Given the description of an element on the screen output the (x, y) to click on. 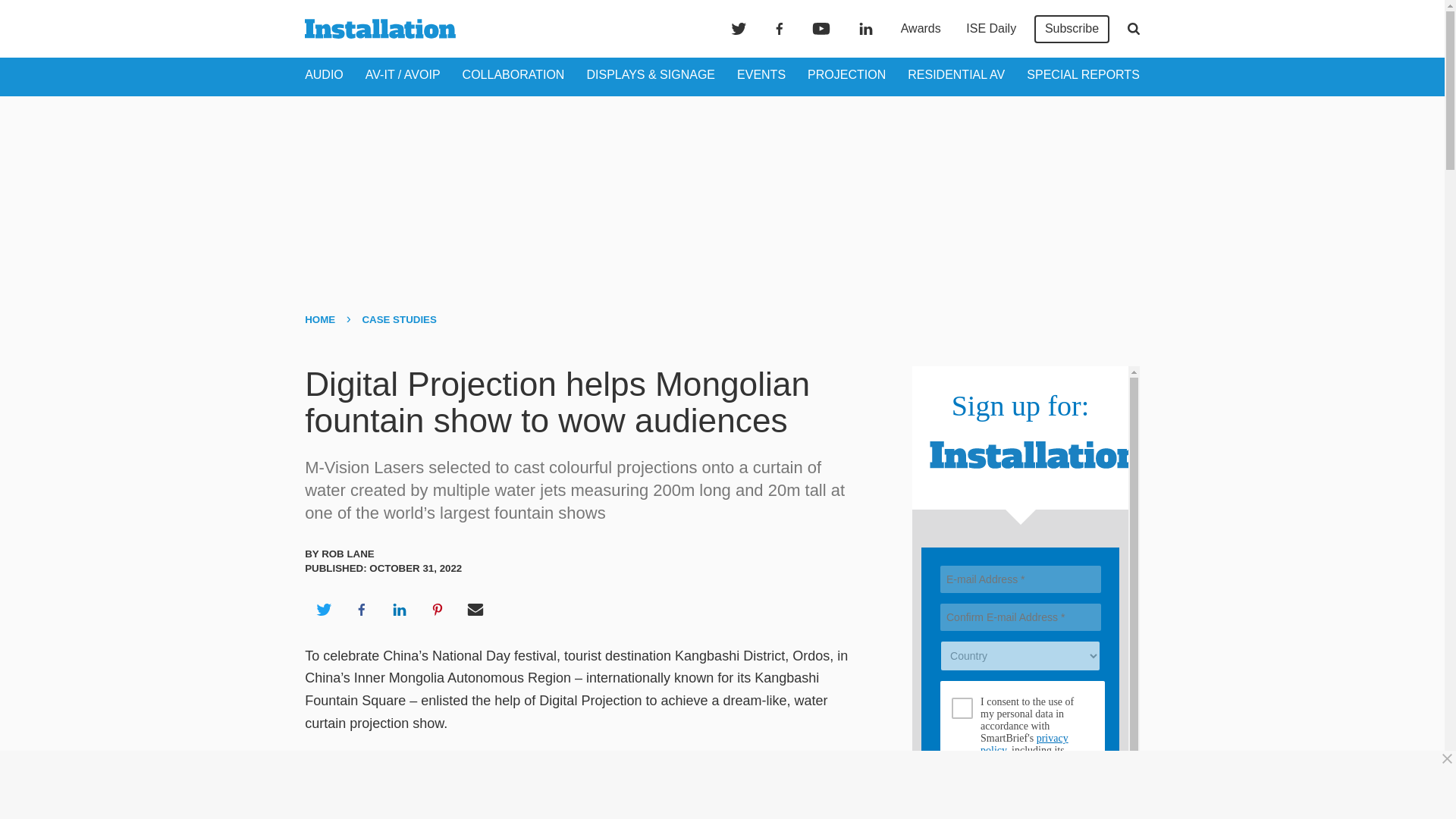
Rob Lane's Author Profile (347, 553)
Share via Email (476, 609)
Share on Facebook (361, 609)
COLLABORATION (513, 74)
Share on Pinterest (438, 609)
ISE Daily (990, 29)
AUDIO (323, 74)
Awards (921, 29)
Subscribe (1071, 29)
Share on LinkedIn (399, 609)
Share on Twitter (323, 609)
